Given the description of an element on the screen output the (x, y) to click on. 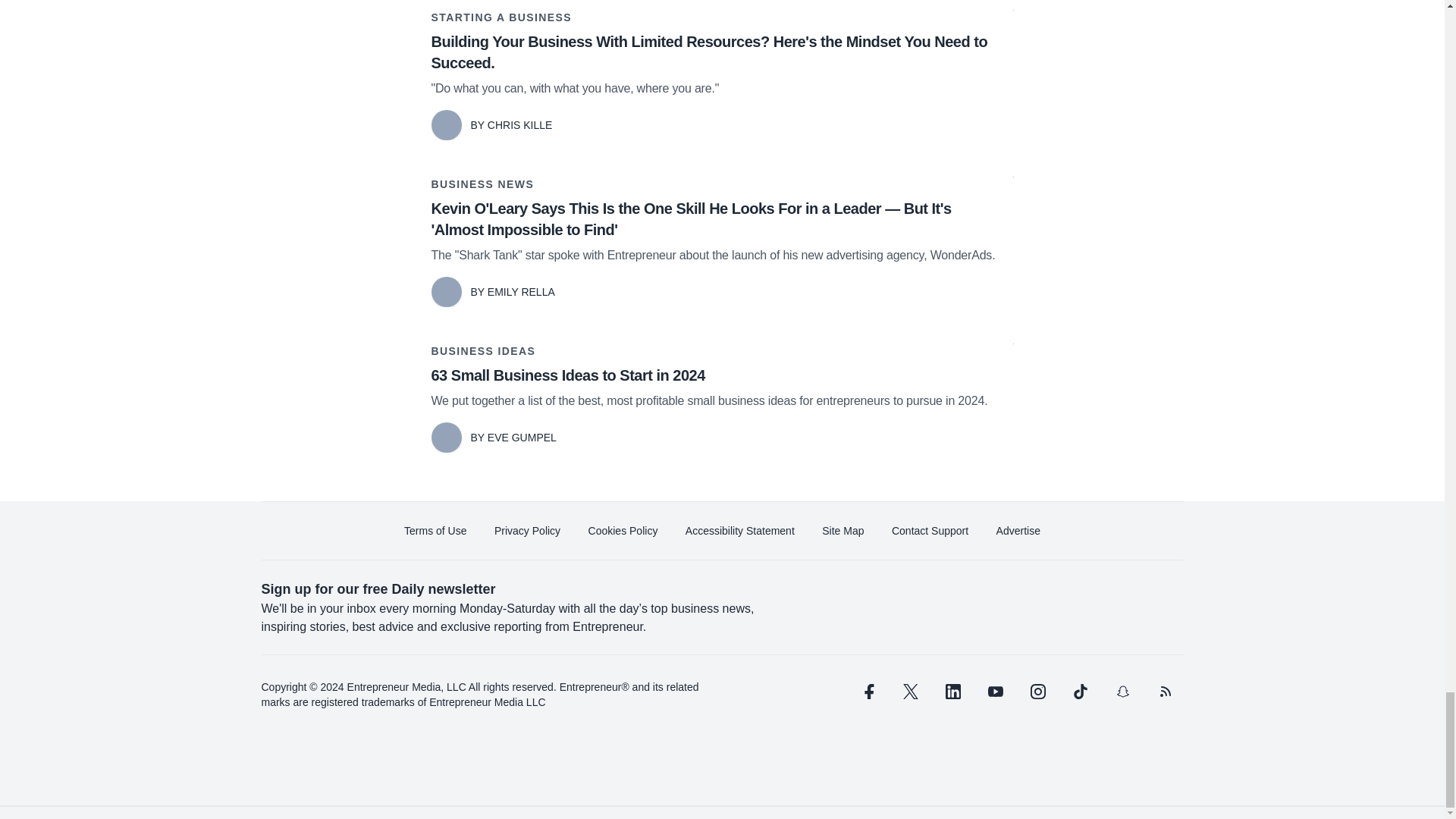
facebook (866, 691)
linkedin (952, 691)
instagram (1037, 691)
youtube (994, 691)
snapchat (1121, 691)
tiktok (1079, 691)
twitter (909, 691)
